Given the description of an element on the screen output the (x, y) to click on. 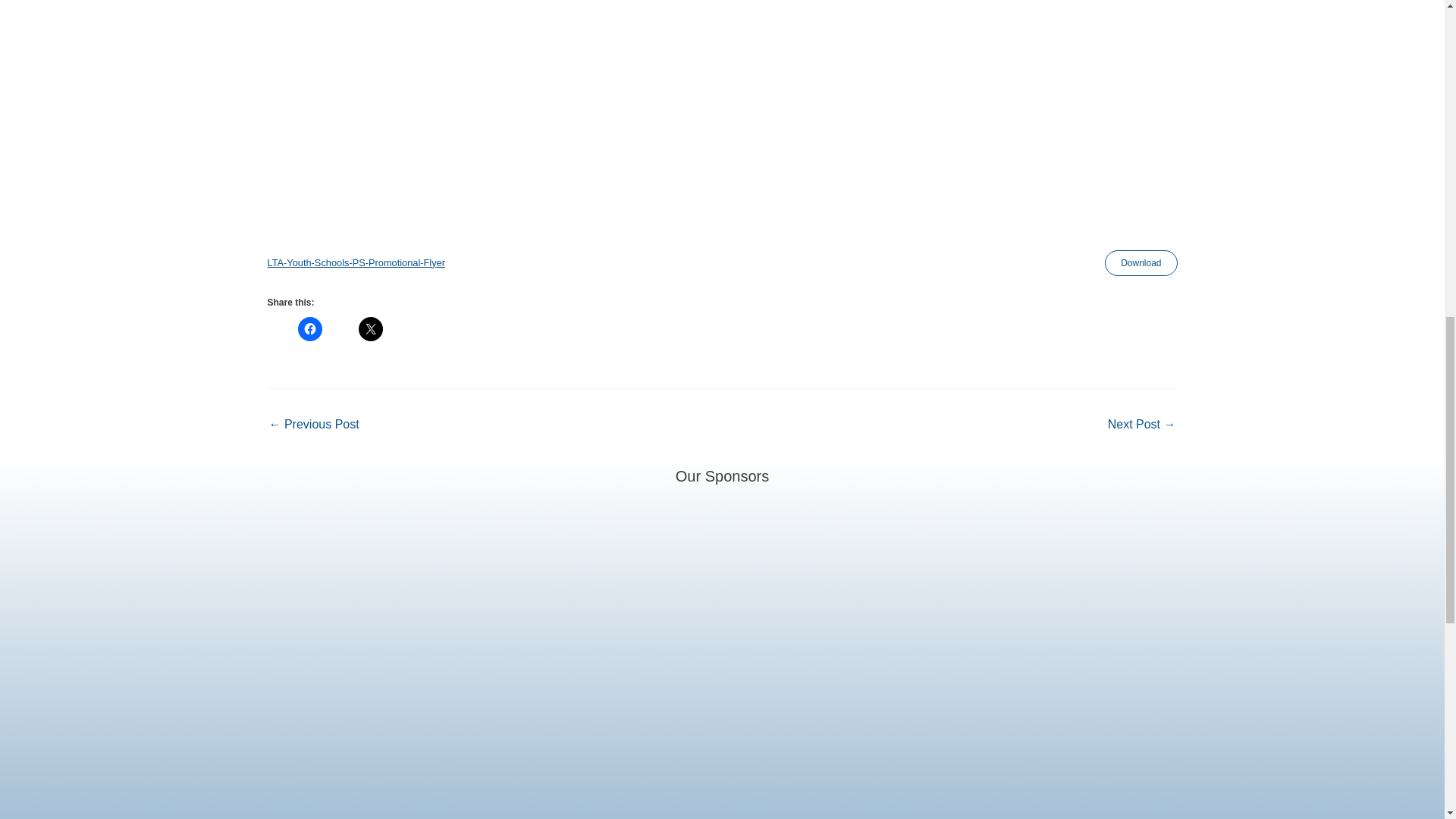
9U County Cup Report (312, 424)
Click to share on X (369, 328)
Case Study - Marlborough Tennis New Pavilion (1142, 424)
Click to share on Facebook (309, 328)
